Given the description of an element on the screen output the (x, y) to click on. 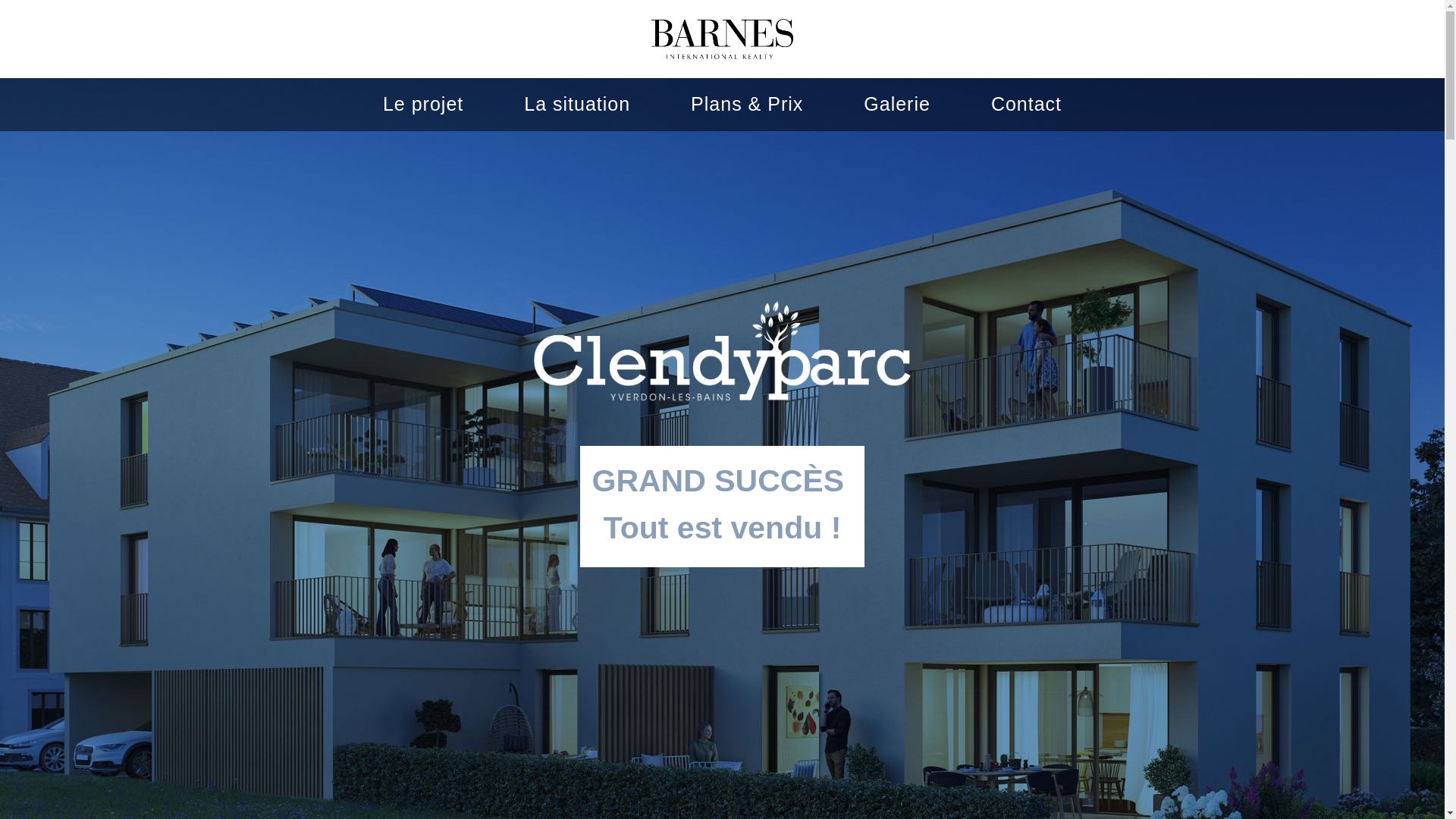
Galerie Element type: text (896, 103)
Contact Element type: text (1026, 103)
Yverdon - Clendy 4 Element type: hover (721, 38)
Plans & Prix Element type: text (746, 103)
La situation Element type: text (577, 103)
Le projet Element type: text (422, 103)
